Given the description of an element on the screen output the (x, y) to click on. 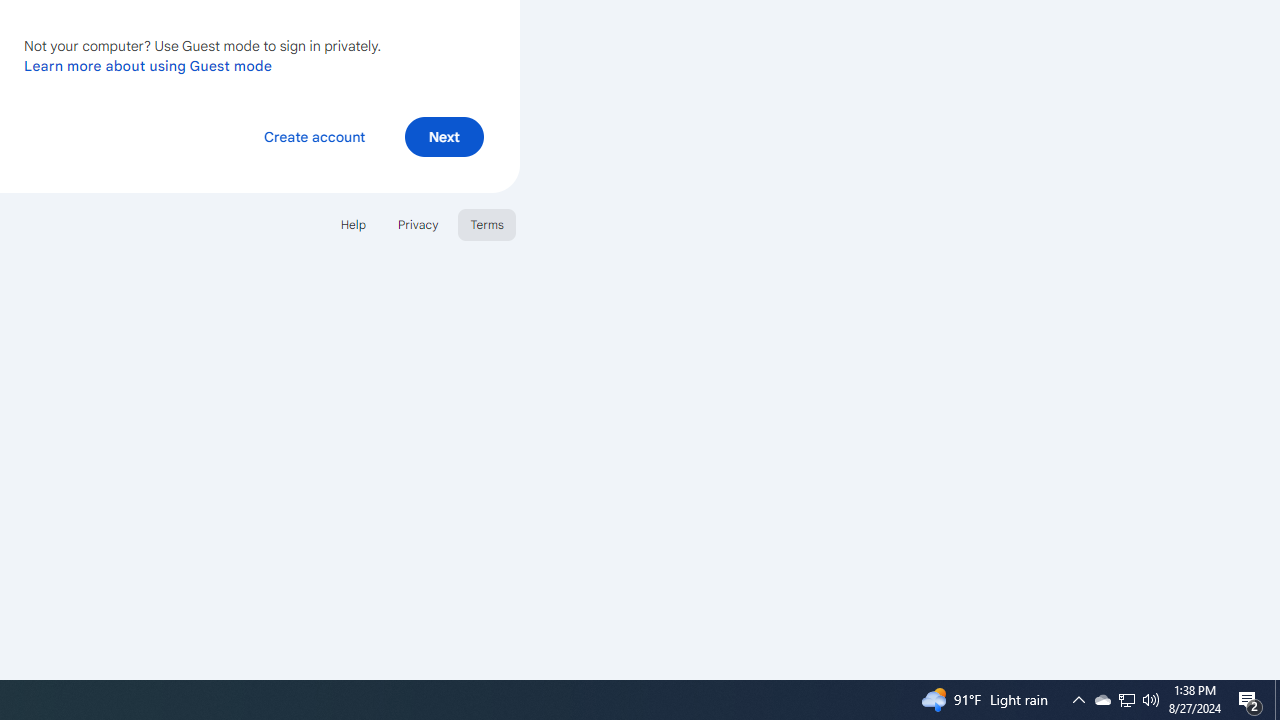
Help (352, 224)
Create account (314, 135)
Next (443, 135)
Learn more about using Guest mode (148, 65)
Privacy (417, 224)
